Given the description of an element on the screen output the (x, y) to click on. 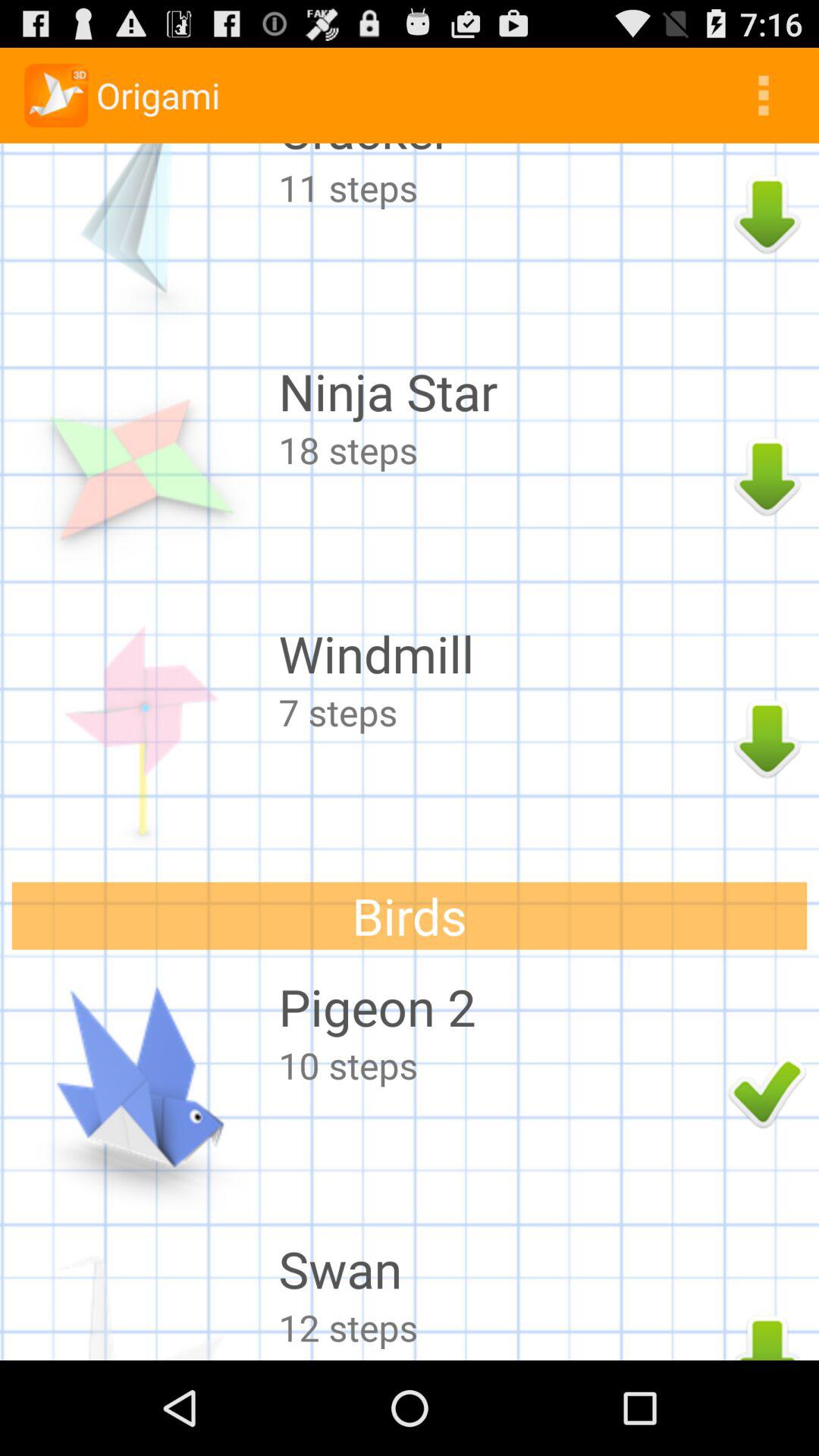
turn off the app above 12 steps app (498, 1269)
